Given the description of an element on the screen output the (x, y) to click on. 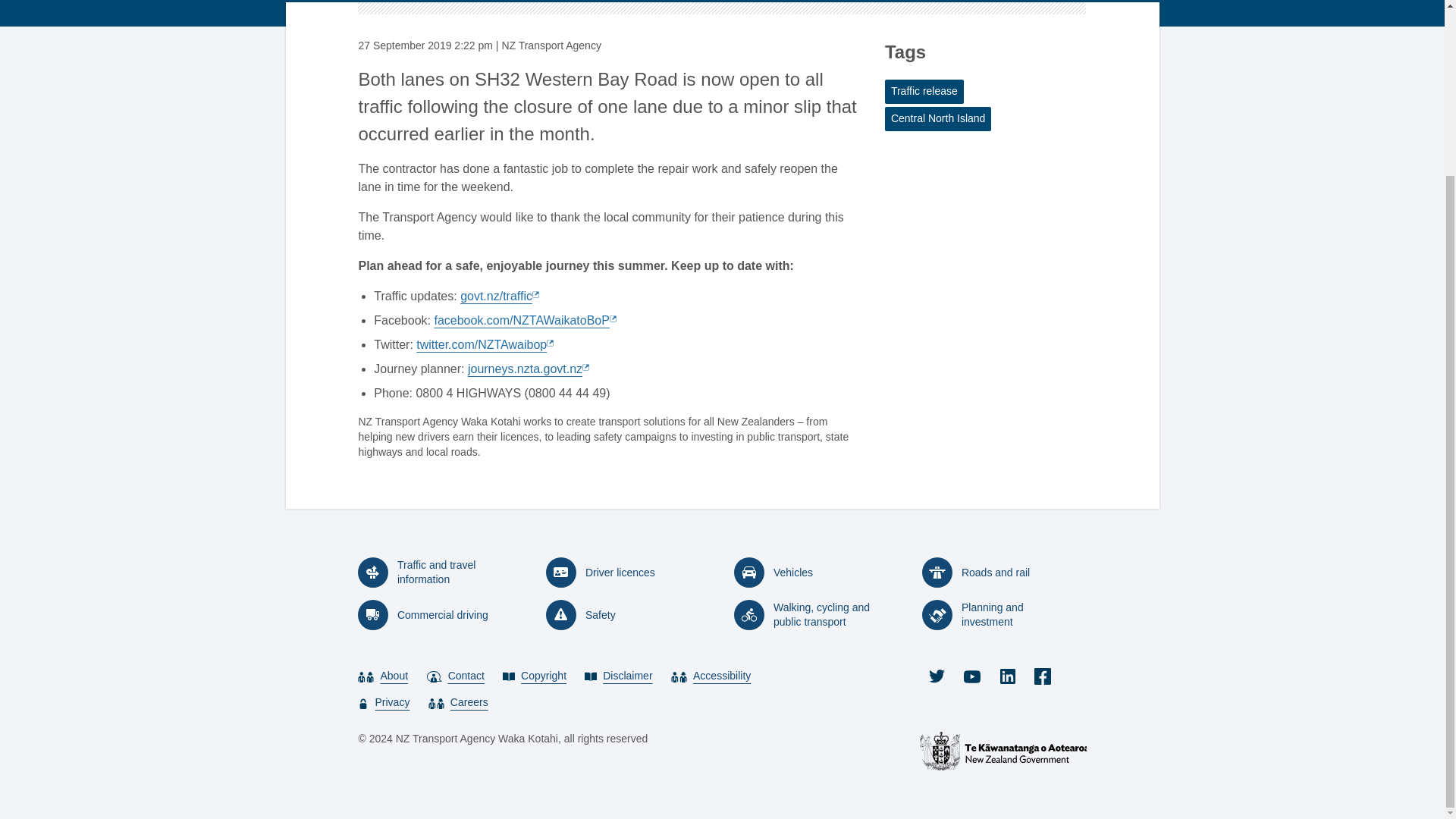
View all posts tagged 'Central North Island' (938, 119)
View all posts tagged 'Traffic release' (924, 91)
